Given the description of an element on the screen output the (x, y) to click on. 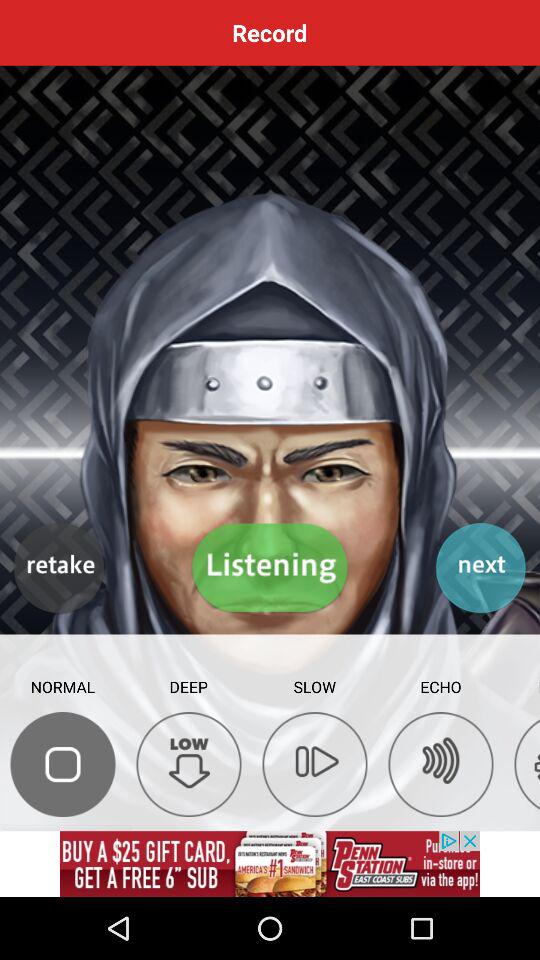
select the normal symbol (62, 764)
